Given the description of an element on the screen output the (x, y) to click on. 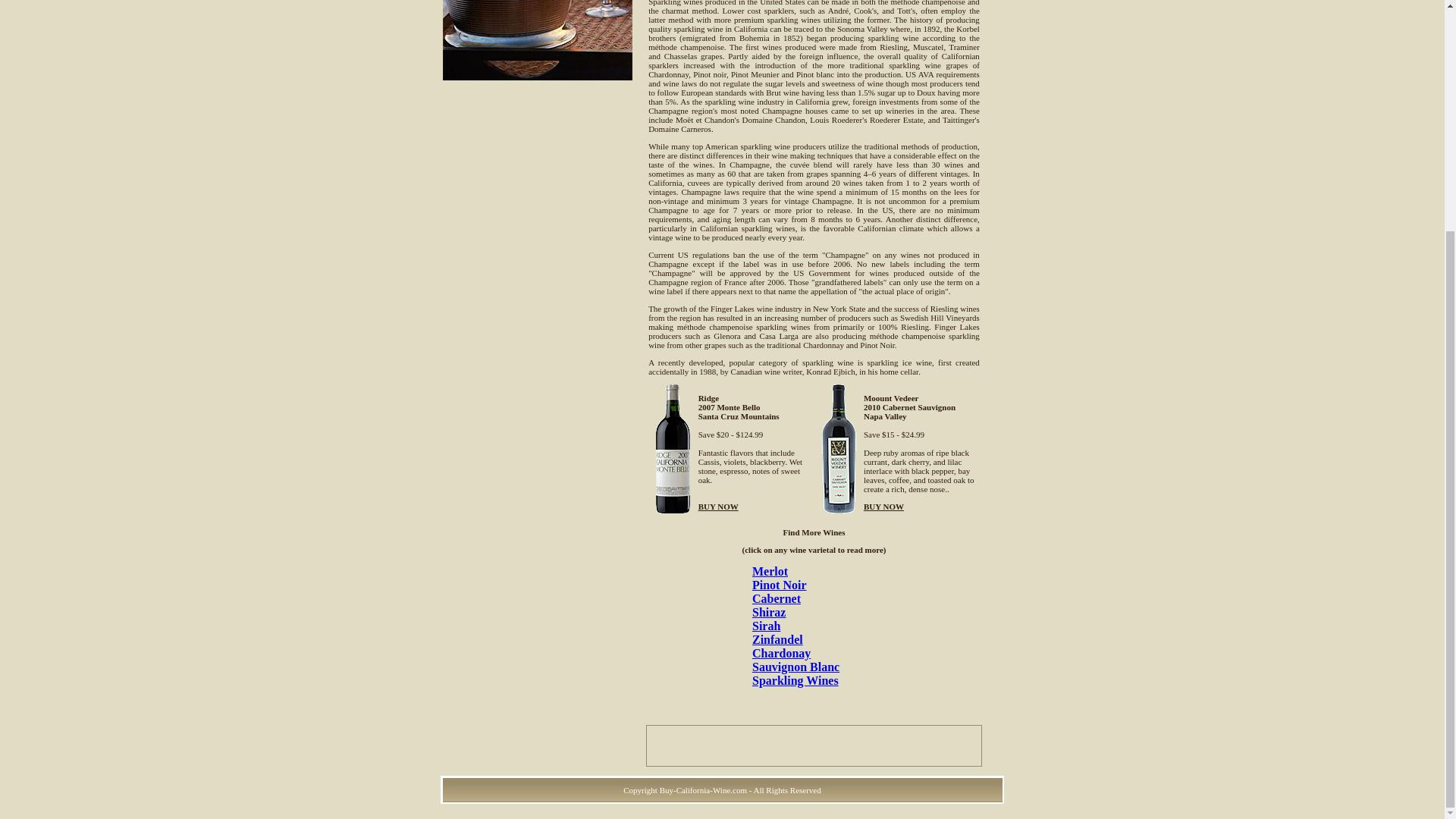
Chardonay (781, 653)
Sauvignon Blanc (796, 666)
BUY NOW (883, 506)
BUY NOW (718, 506)
Sirah (766, 625)
Cabernet (776, 598)
Sparkling Wines (795, 680)
Shiraz (769, 612)
Zinfandel (777, 639)
Merlot (769, 571)
Pinot Noir (779, 584)
